Given the description of an element on the screen output the (x, y) to click on. 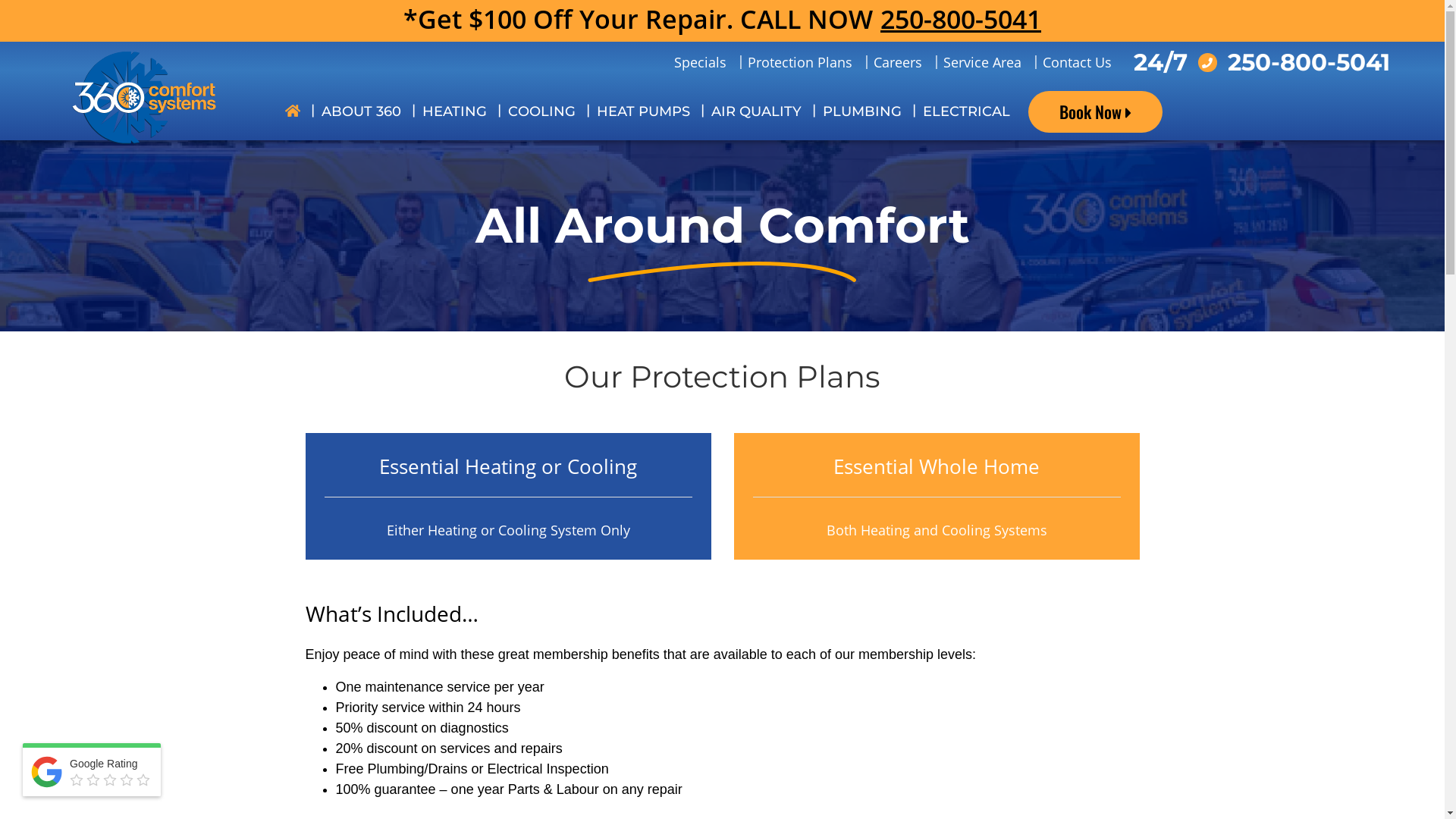
250-800-5041 Element type: text (960, 19)
Protection Plans Element type: text (799, 62)
Careers Element type: text (897, 62)
COOLING Element type: text (541, 111)
Book Now Element type: text (1095, 111)
AIR QUALITY Element type: text (756, 111)
Service Area Element type: text (982, 62)
Contact Us Element type: text (1076, 62)
250-800-5041 Element type: text (1307, 62)
HEAT PUMPS Element type: text (643, 111)
ELECTRICAL Element type: text (966, 111)
PLUMBING Element type: text (862, 111)
Specials Element type: text (699, 62)
ABOUT 360 Element type: text (360, 111)
HEATING Element type: text (454, 111)
